Given the description of an element on the screen output the (x, y) to click on. 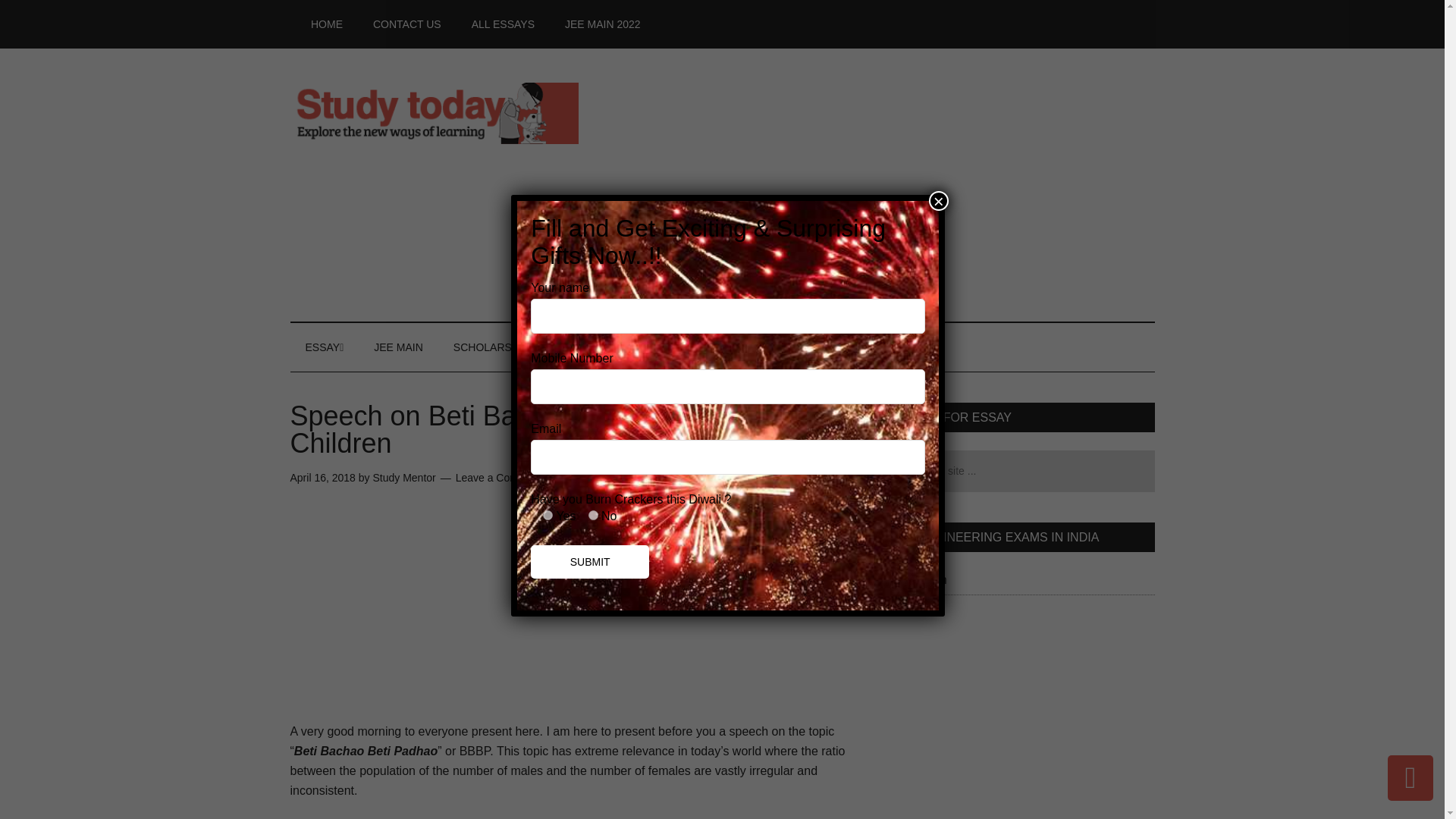
HOME (326, 24)
SCHOLARSHIP 2022 (504, 346)
GENERAL KNOWLEDGE (798, 346)
Yes (548, 515)
Advertisement (1017, 724)
Advertisement (878, 184)
JEE MAIN 2022 (603, 24)
Study Today (433, 112)
Submit (590, 561)
JEE MAIN (398, 346)
CONTACT US (407, 24)
Study Mentor (403, 477)
Advertisement (574, 615)
